Given the description of an element on the screen output the (x, y) to click on. 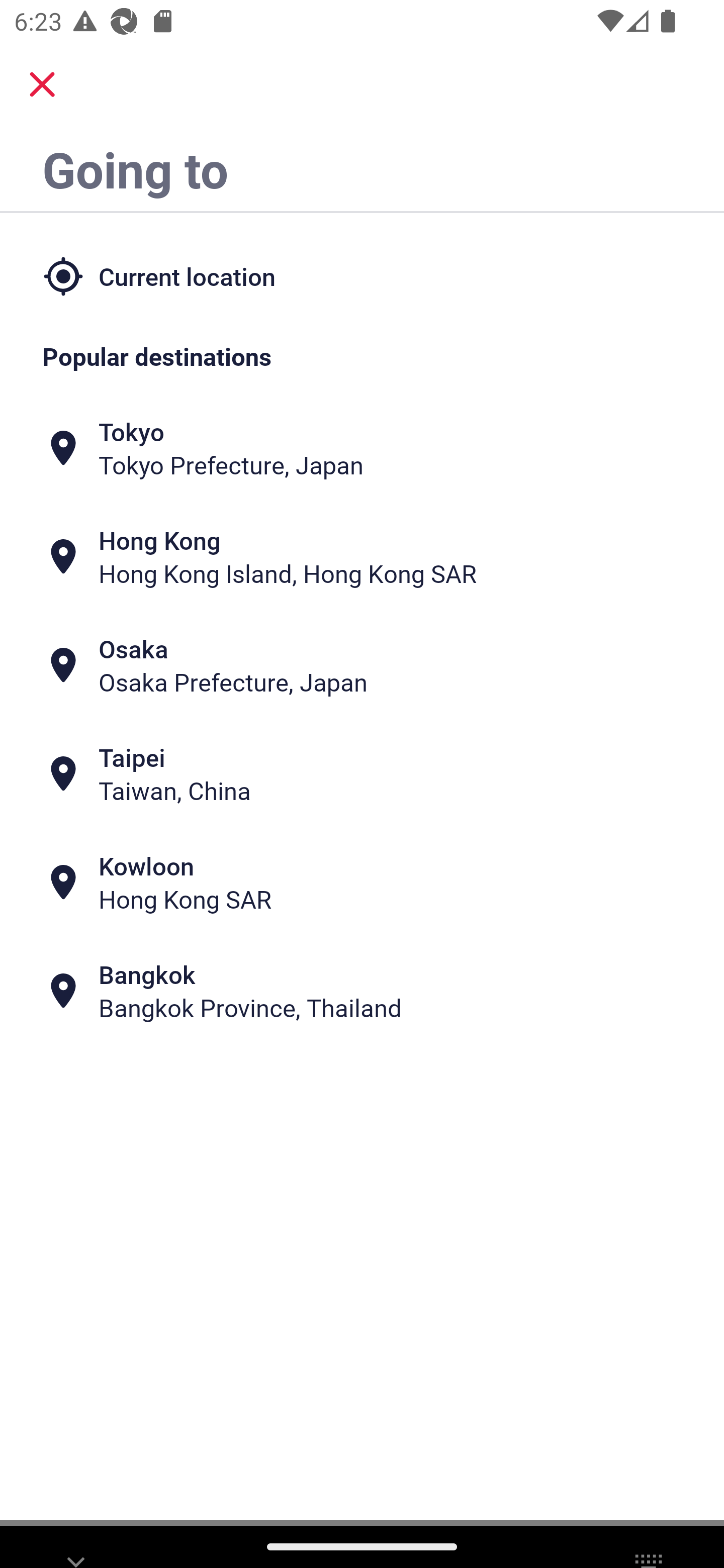
close. (42, 84)
Current location (362, 275)
Tokyo Tokyo Prefecture, Japan (362, 448)
Hong Kong Hong Kong Island, Hong Kong SAR (362, 557)
Osaka Osaka Prefecture, Japan (362, 665)
Taipei Taiwan, China (362, 773)
Kowloon Hong Kong SAR (362, 881)
Bangkok Bangkok Province, Thailand (362, 990)
